Given the description of an element on the screen output the (x, y) to click on. 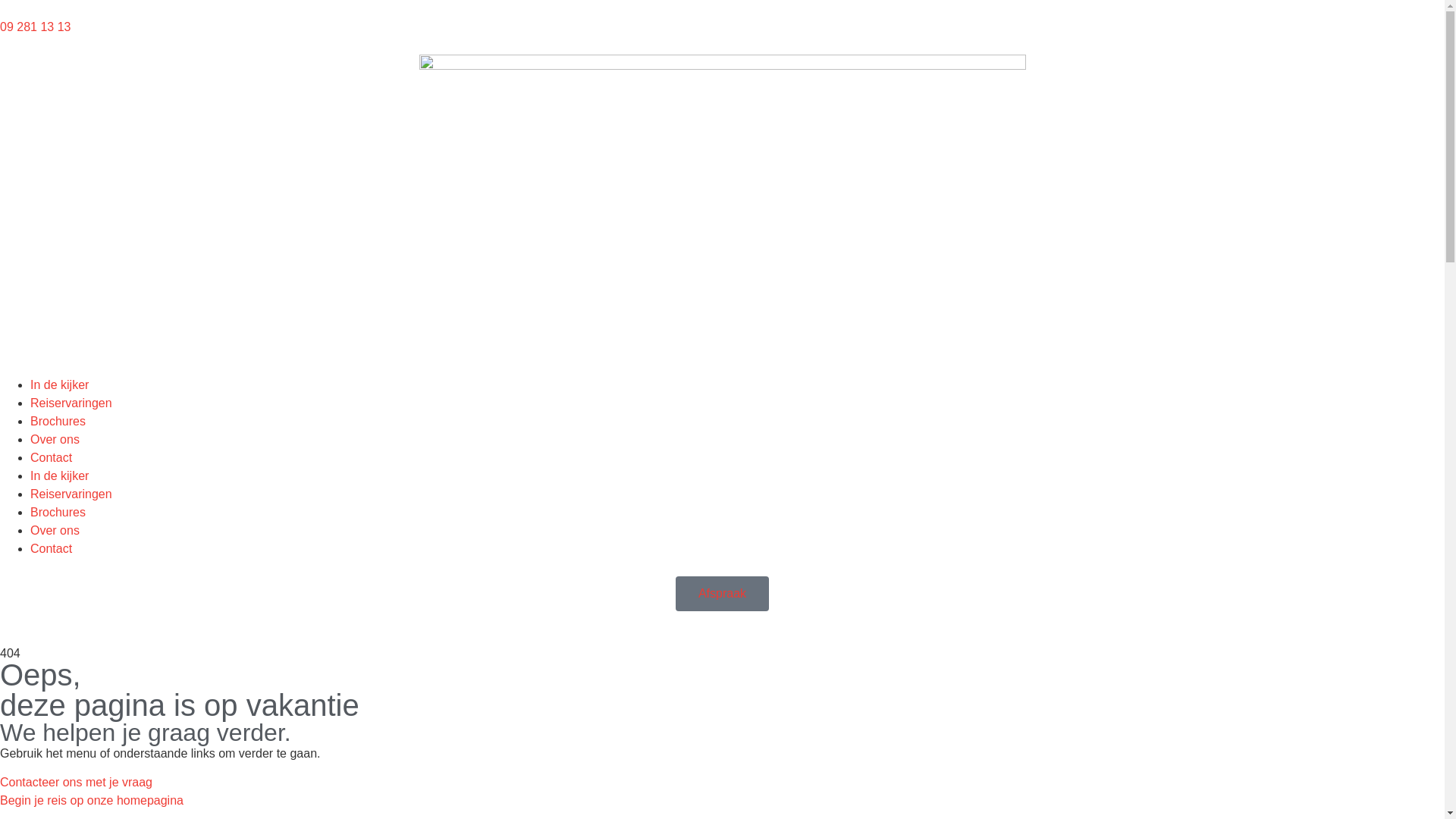
Contact Element type: text (51, 457)
Reiservaringen Element type: text (71, 493)
Contact Element type: text (51, 548)
09 281 13 13 Element type: text (35, 26)
Over ons Element type: text (54, 439)
Afspraak Element type: text (721, 593)
In de kijker Element type: text (59, 384)
Brochures Element type: text (57, 511)
In de kijker Element type: text (59, 475)
Begin je reis op onze homepagina Element type: text (91, 799)
Brochures Element type: text (57, 420)
Contacteer ons met je vraag Element type: text (76, 781)
Reiservaringen Element type: text (71, 402)
Over ons Element type: text (54, 530)
